Given the description of an element on the screen output the (x, y) to click on. 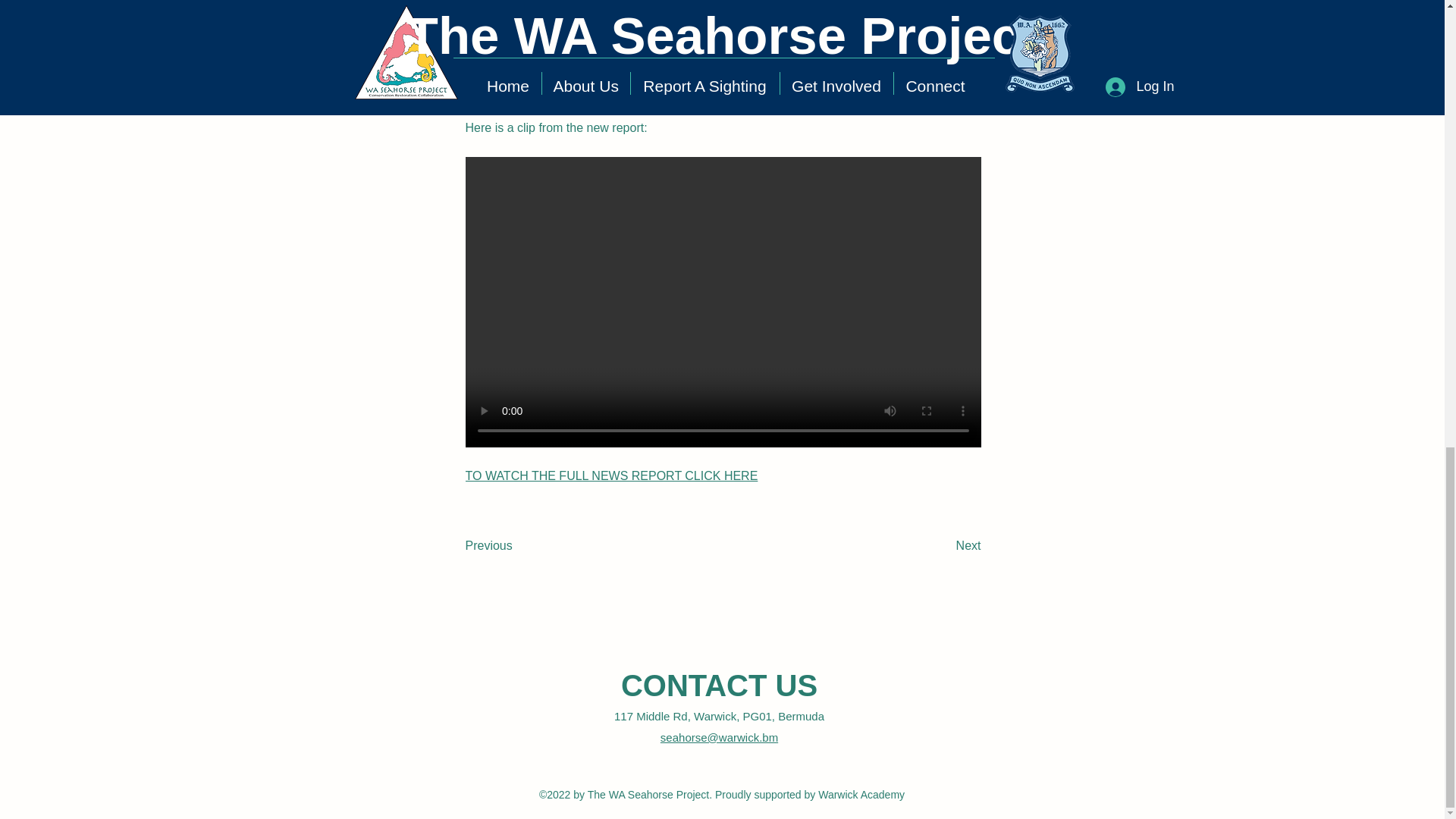
Next (943, 546)
Previous (515, 546)
TO WATCH THE FULL NEWS REPORT CLICK HERE (611, 475)
